Given the description of an element on the screen output the (x, y) to click on. 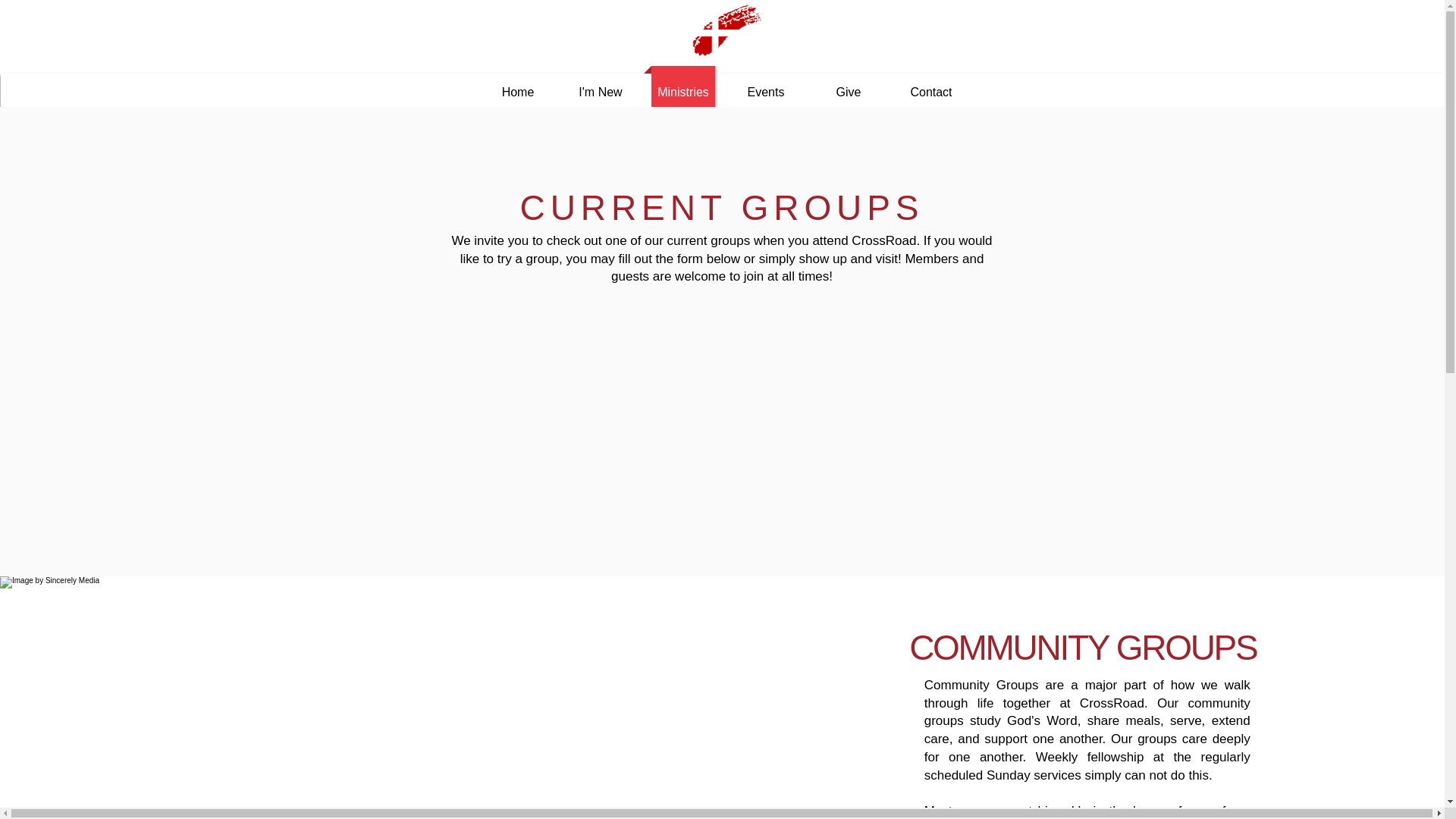
Contact (931, 92)
Ministries (682, 92)
Home (518, 92)
Give (848, 92)
Events (765, 92)
I'm New (600, 92)
